Given the description of an element on the screen output the (x, y) to click on. 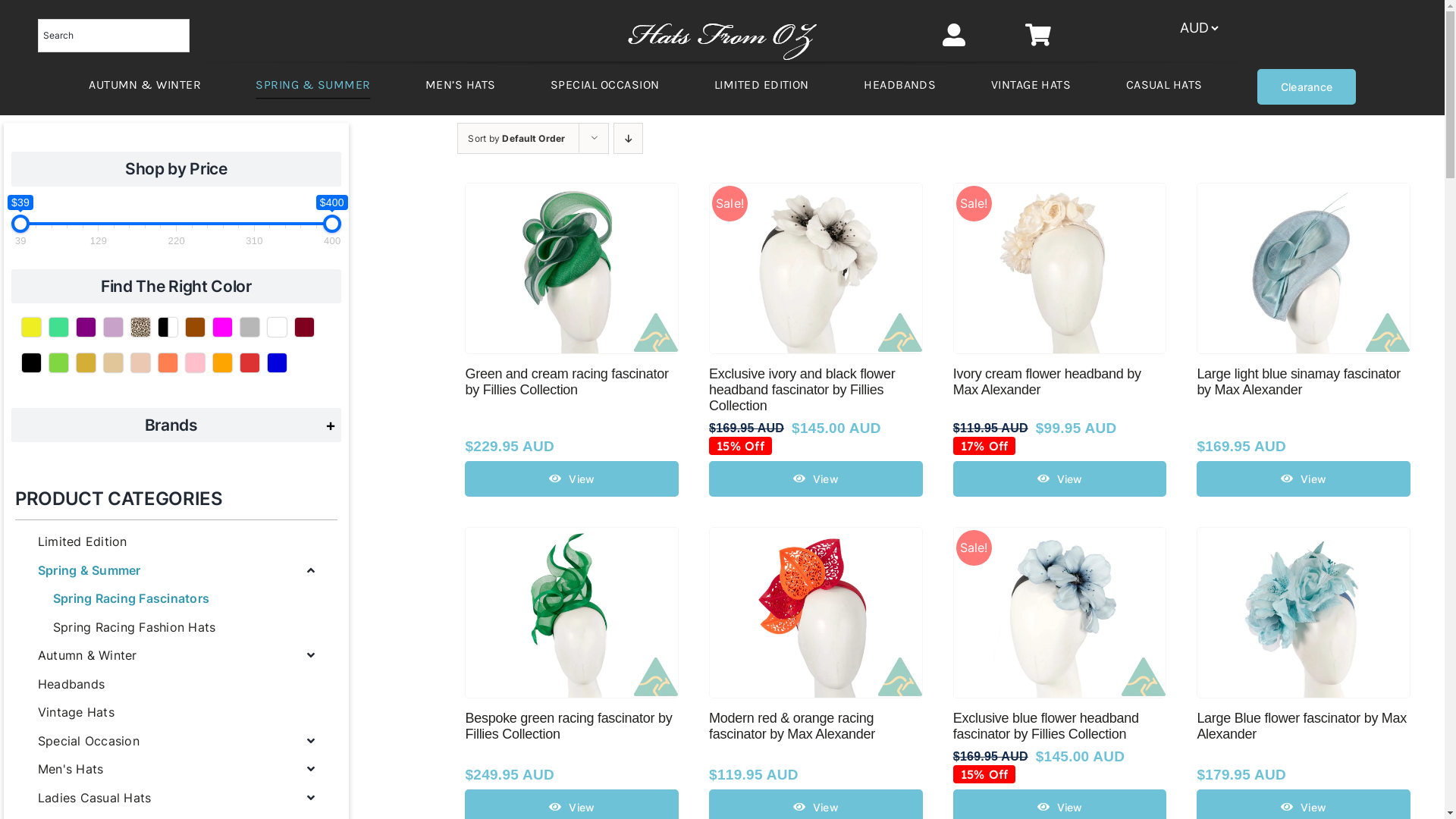
Vintage Hats Element type: text (175, 712)
Men's Hats Element type: text (175, 769)
Special Occasion Element type: text (175, 741)
+ Element type: text (330, 425)
Ladies Casual Hats Element type: text (175, 798)
CASUAL HATS Element type: text (1164, 86)
View Element type: text (1060, 478)
Clearance Element type: text (1306, 85)
HEADBANDS Element type: text (899, 86)
View Element type: text (571, 478)
SPRING & SUMMER Element type: text (312, 86)
Large light blue sinamay fascinator by Max Alexander Element type: text (1298, 381)
View Element type: text (1303, 478)
Headbands Element type: text (175, 684)
Modern red & orange racing fascinator by Max Alexander Element type: text (792, 725)
AUTUMN & WINTER Element type: text (144, 86)
Ivory cream flower headband by Max Alexander Element type: text (1047, 381)
View Element type: text (815, 478)
VINTAGE HATS Element type: text (1031, 86)
Large Blue flower fascinator by Max Alexander Element type: text (1301, 725)
Autumn & Winter Element type: text (175, 655)
LIMITED EDITION Element type: text (761, 86)
Green and cream racing fascinator by Fillies Collection Element type: text (566, 381)
Limited Edition Element type: text (175, 541)
Spring Racing Fascinators Element type: text (183, 598)
Bespoke green racing fascinator by Fillies Collection Element type: text (567, 725)
SPECIAL OCCASION Element type: text (604, 86)
Spring Racing Fashion Hats Element type: text (183, 627)
Sort by Default Order Element type: text (515, 138)
Spring & Summer Element type: text (175, 570)
Log In Element type: text (381, 212)
